Given the description of an element on the screen output the (x, y) to click on. 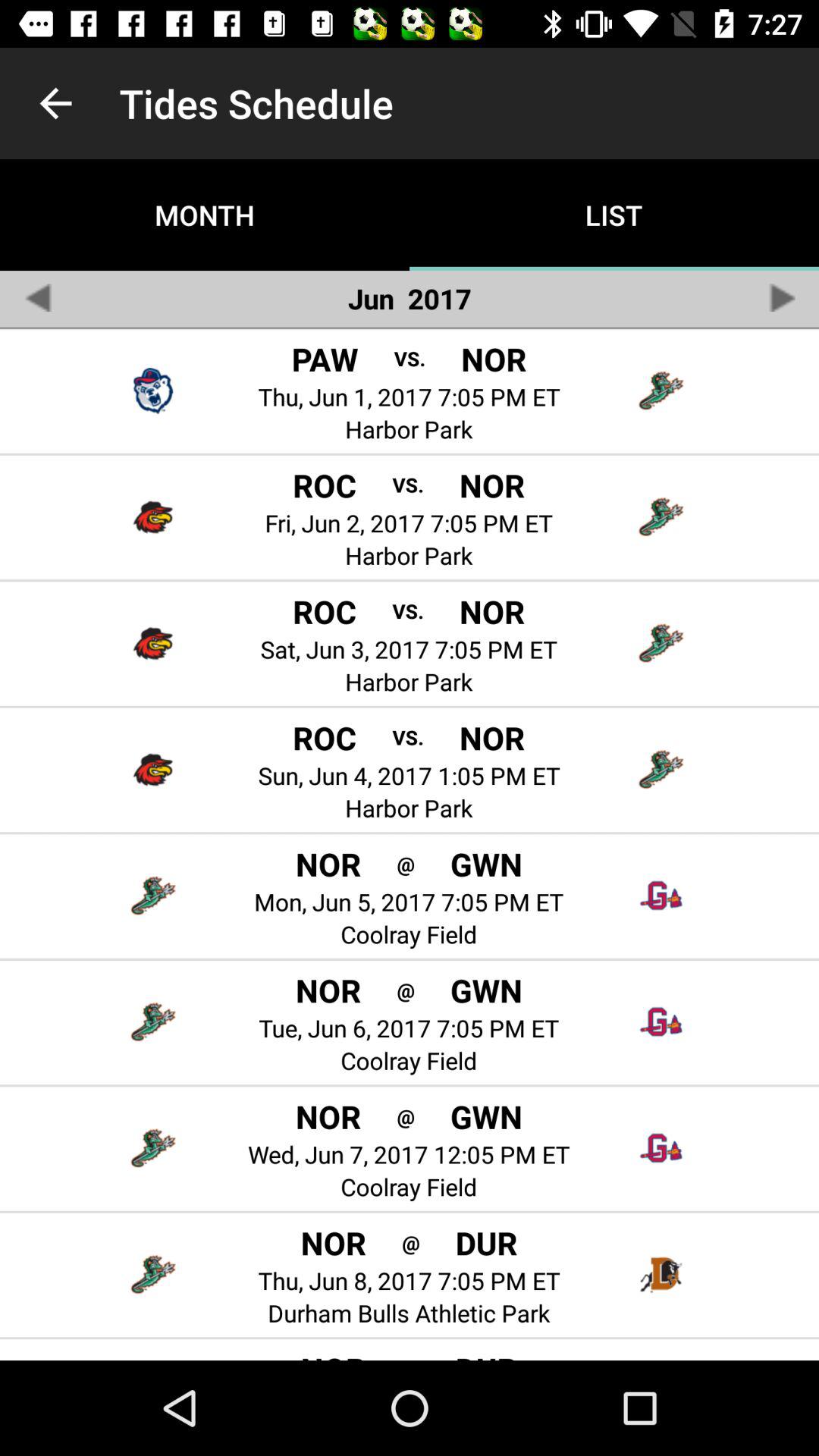
go to previous (37, 297)
